Given the description of an element on the screen output the (x, y) to click on. 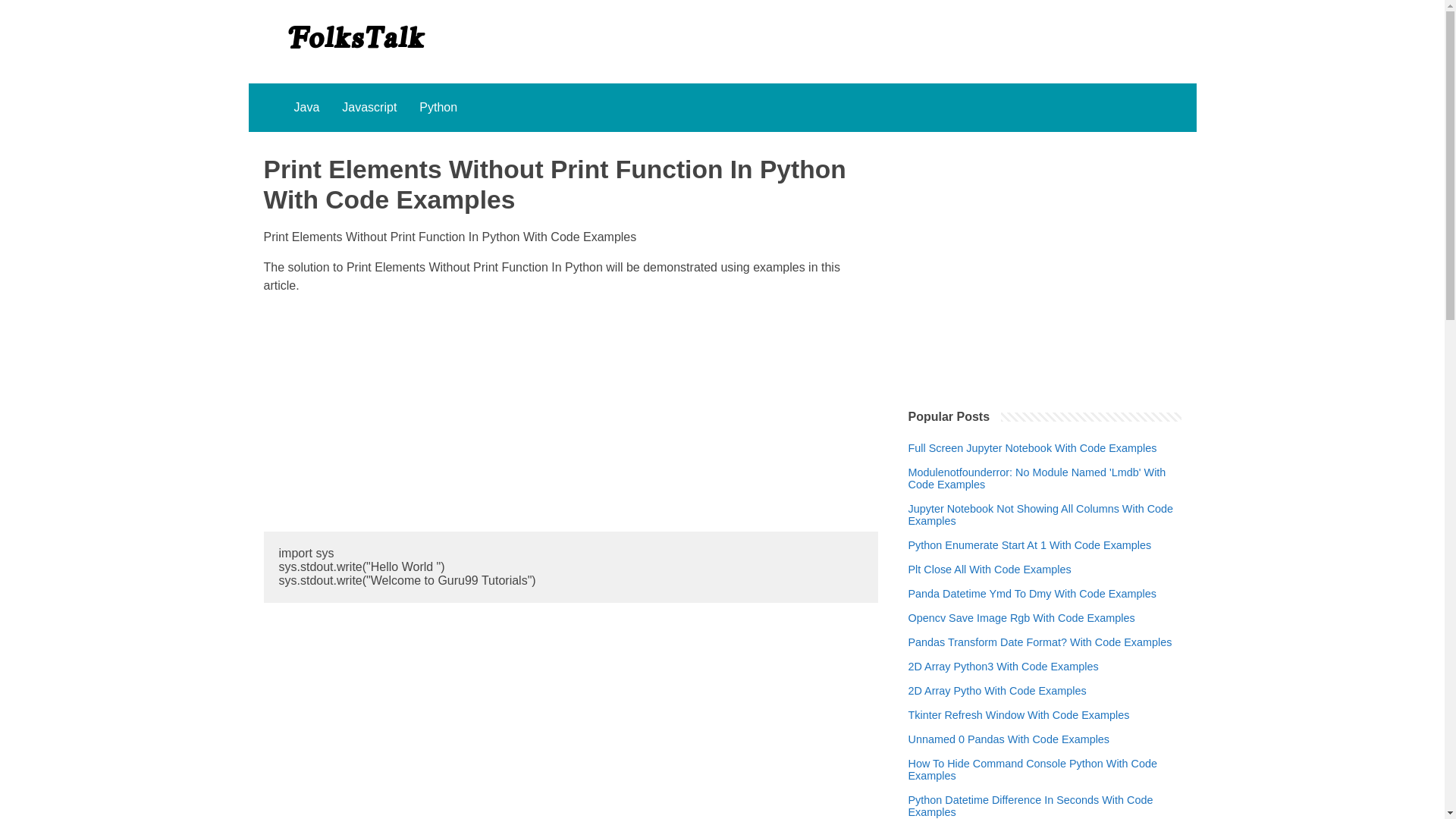
Javascript (369, 107)
How To Hide Command Console Python With Code Examples (1044, 769)
Unnamed 0 Pandas With Code Examples (1008, 739)
Advertisement (570, 413)
Full Screen Jupyter Notebook With Code Examples (1032, 448)
Opencv Save Image Rgb With Code Examples (1021, 617)
Advertisement (1044, 260)
2D Array Python3 With Code Examples (1003, 666)
Tkinter Refresh Window With Code Examples (1018, 715)
Python (438, 107)
Pandas Transform Date Format? With Code Examples (1040, 642)
Panda Datetime Ymd To Dmy With Code Examples (1032, 593)
Jupyter Notebook Not Showing All Columns With Code Examples (1044, 514)
Plt Close All With Code Examples (989, 569)
